Given the description of an element on the screen output the (x, y) to click on. 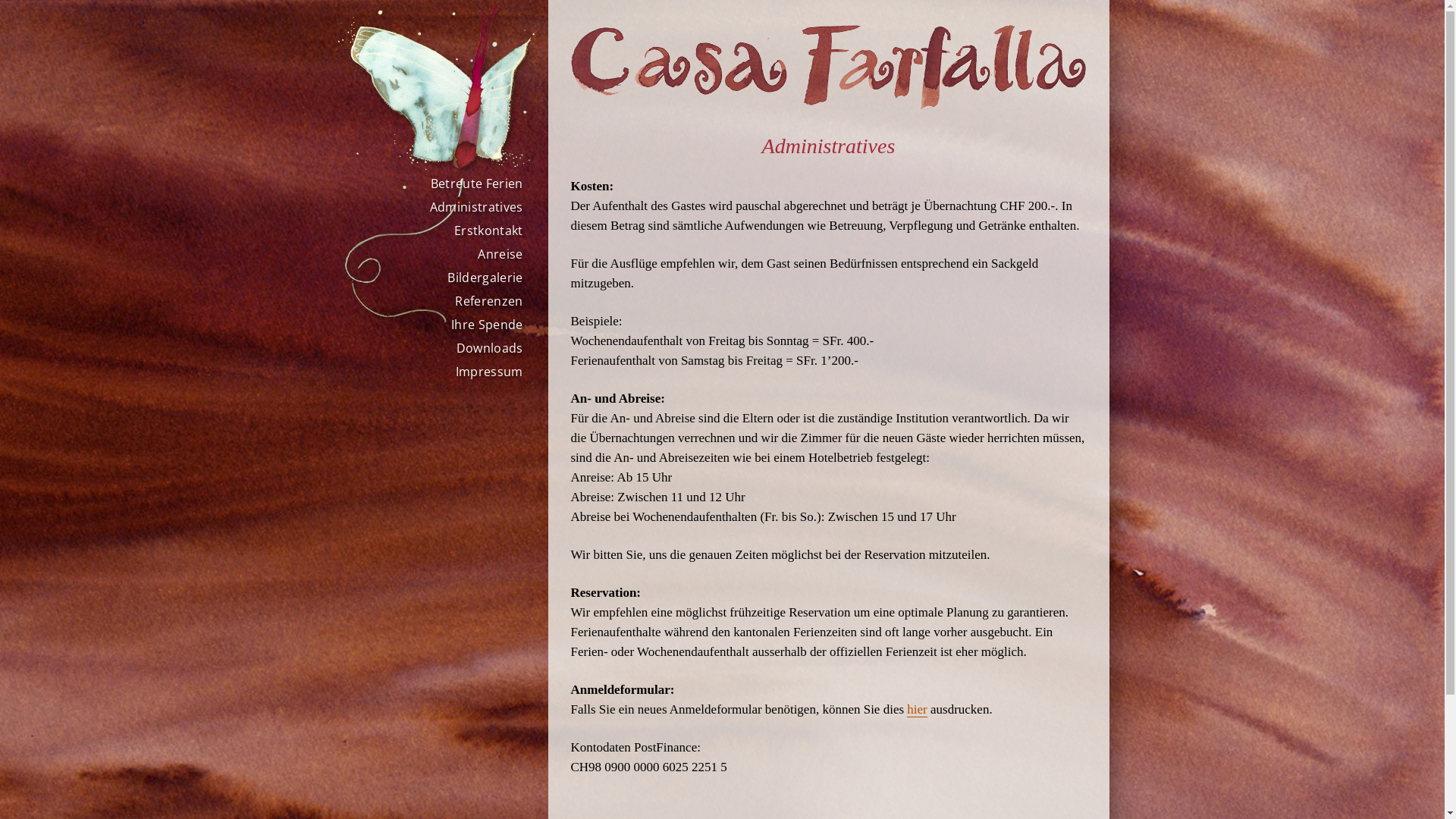
Bildergalerie Element type: text (484, 277)
Anreise Element type: text (499, 253)
hier Element type: text (916, 709)
Ihre Spende Element type: text (487, 324)
Impressum Element type: text (489, 371)
Administratives Element type: text (476, 206)
Downloads Element type: text (489, 347)
Erstkontakt Element type: text (488, 230)
Betreute Ferien Element type: text (476, 183)
Referenzen Element type: text (488, 300)
